Given the description of an element on the screen output the (x, y) to click on. 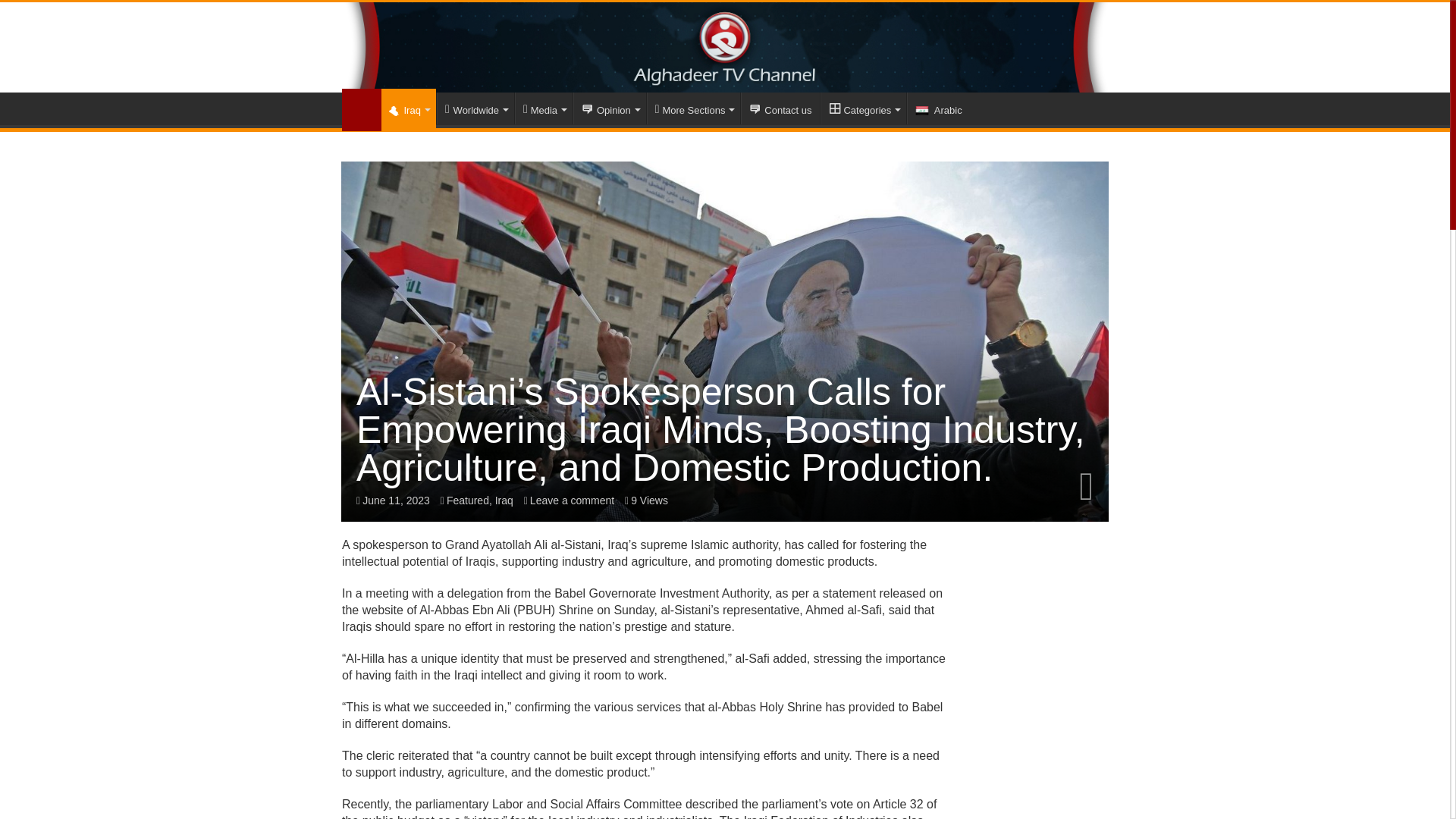
Alghadeer TV (725, 47)
